Given the description of an element on the screen output the (x, y) to click on. 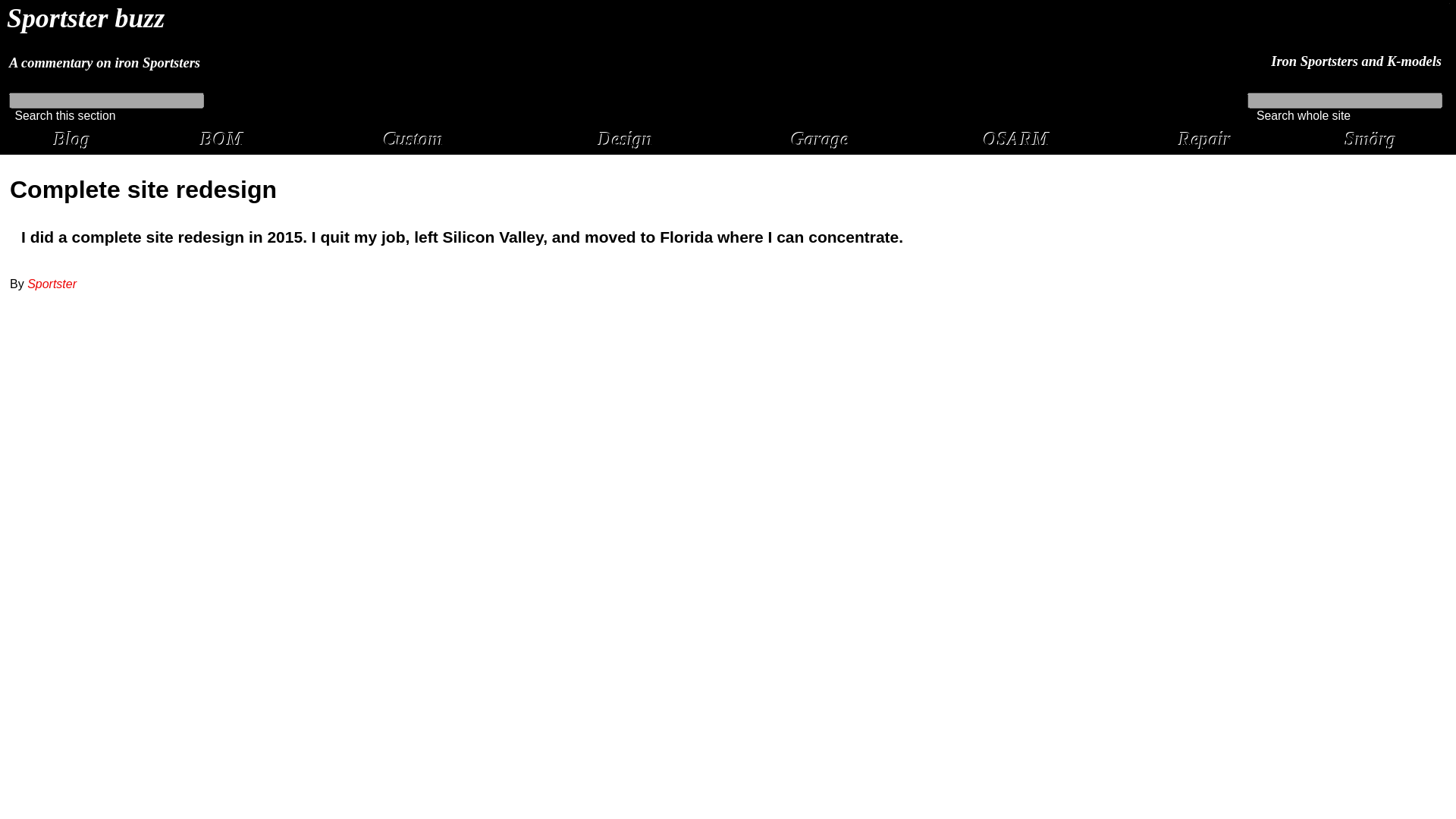
Search whole site (1303, 115)
Repair (1205, 138)
Search whole site (1303, 115)
Search this section (64, 115)
Search this section (64, 115)
BOM (222, 138)
Design (625, 138)
Custom (414, 138)
Sportster buzz (85, 18)
Iron Sportsters and K-models (1356, 60)
OSARM (1016, 138)
Blog (71, 138)
Garage (820, 138)
